Given the description of an element on the screen output the (x, y) to click on. 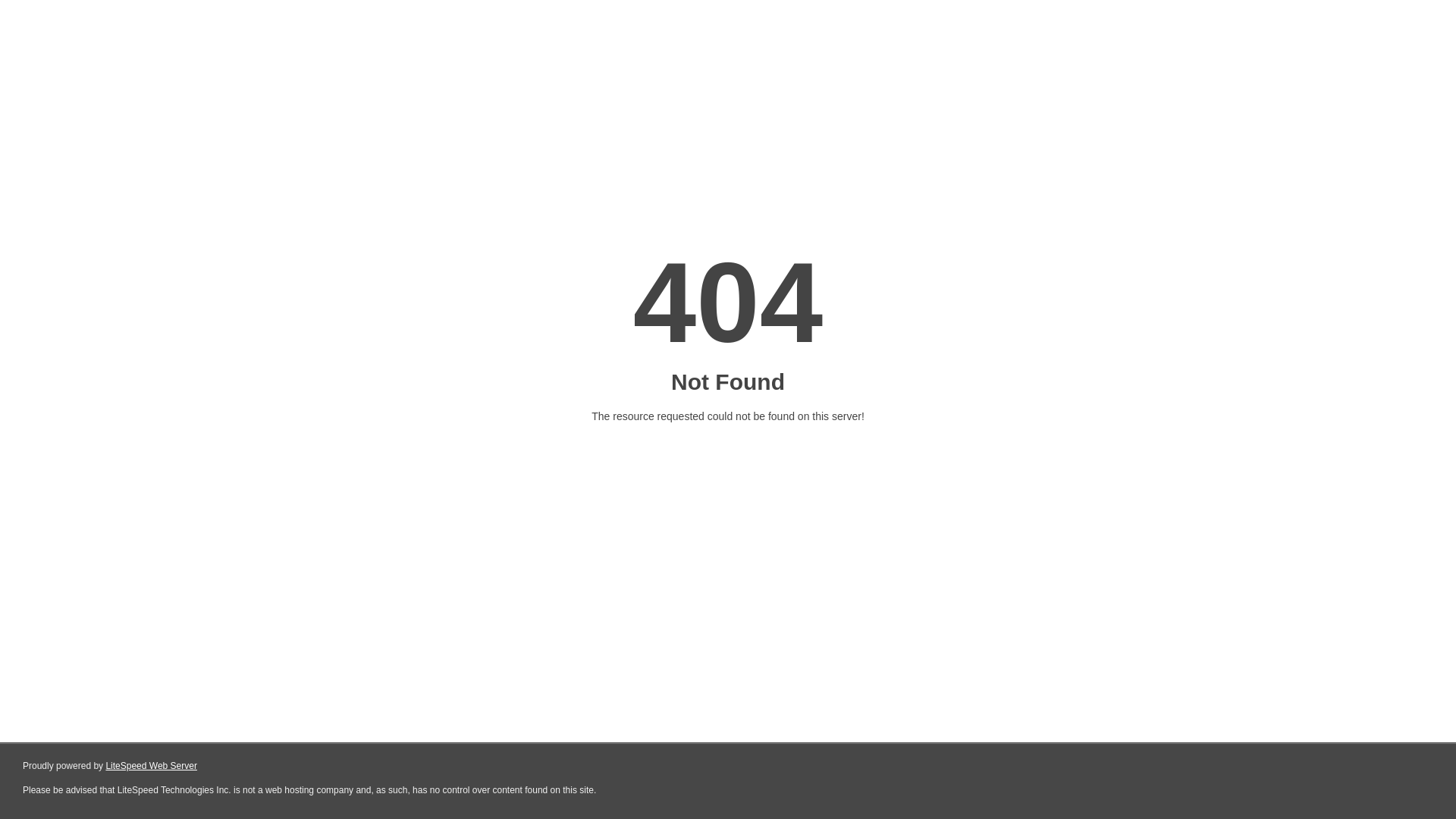
LiteSpeed Web Server Element type: text (151, 765)
